Given the description of an element on the screen output the (x, y) to click on. 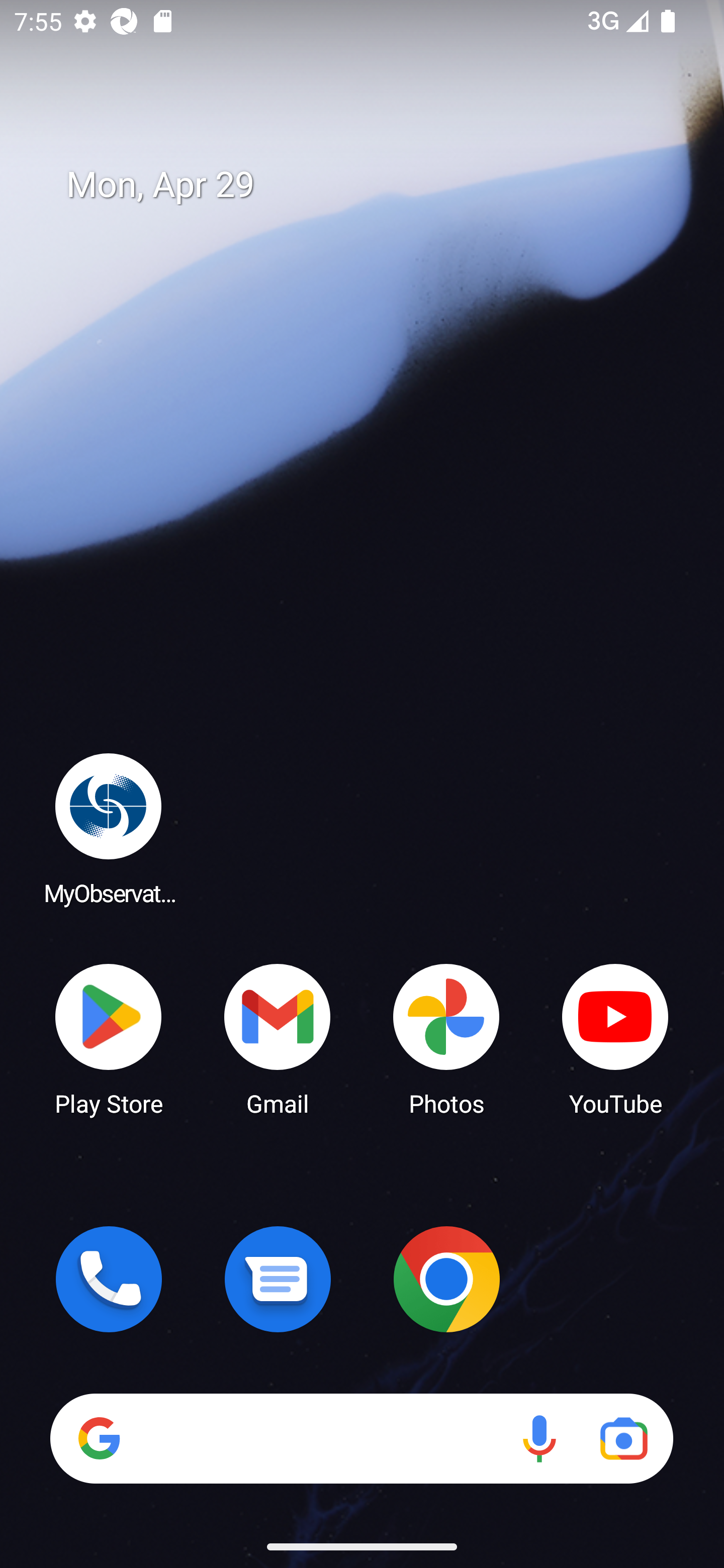
Mon, Apr 29 (375, 184)
MyObservatory (108, 828)
Play Store (108, 1038)
Gmail (277, 1038)
Photos (445, 1038)
YouTube (615, 1038)
Phone (108, 1279)
Messages (277, 1279)
Chrome (446, 1279)
Voice search (539, 1438)
Google Lens (623, 1438)
